Given the description of an element on the screen output the (x, y) to click on. 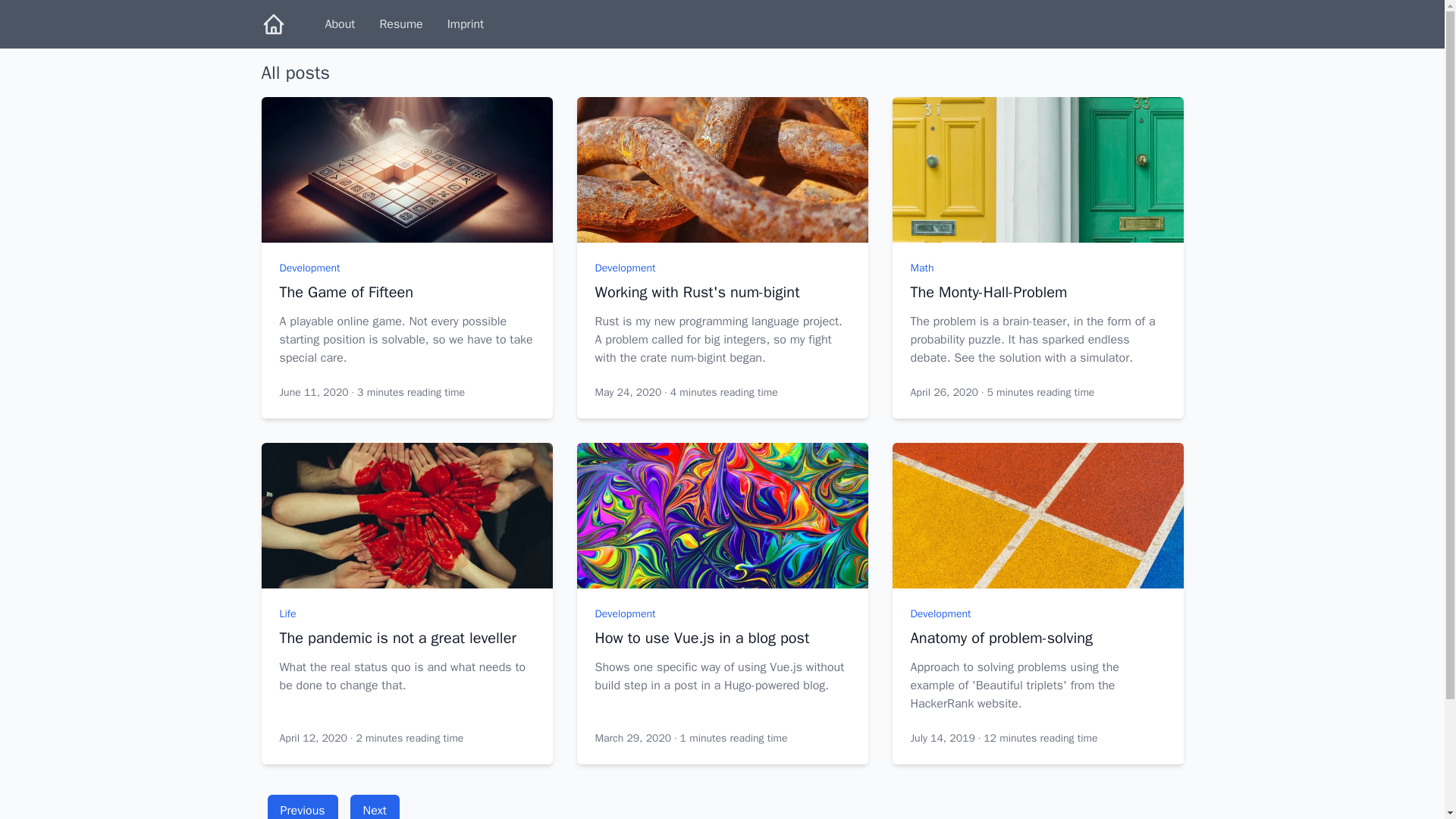
Next (374, 810)
Imprint (465, 24)
Development (940, 613)
The Game of Fifteen (406, 292)
How to use Vue.js in a blog post (721, 638)
Anatomy of problem-solving (1037, 638)
Development (624, 267)
Resume (399, 24)
The Monty-Hall-Problem (1037, 292)
Previous (301, 810)
Life (287, 613)
About (339, 24)
About (339, 24)
Working with Rust's num-bigint (721, 292)
Development (624, 613)
